Given the description of an element on the screen output the (x, y) to click on. 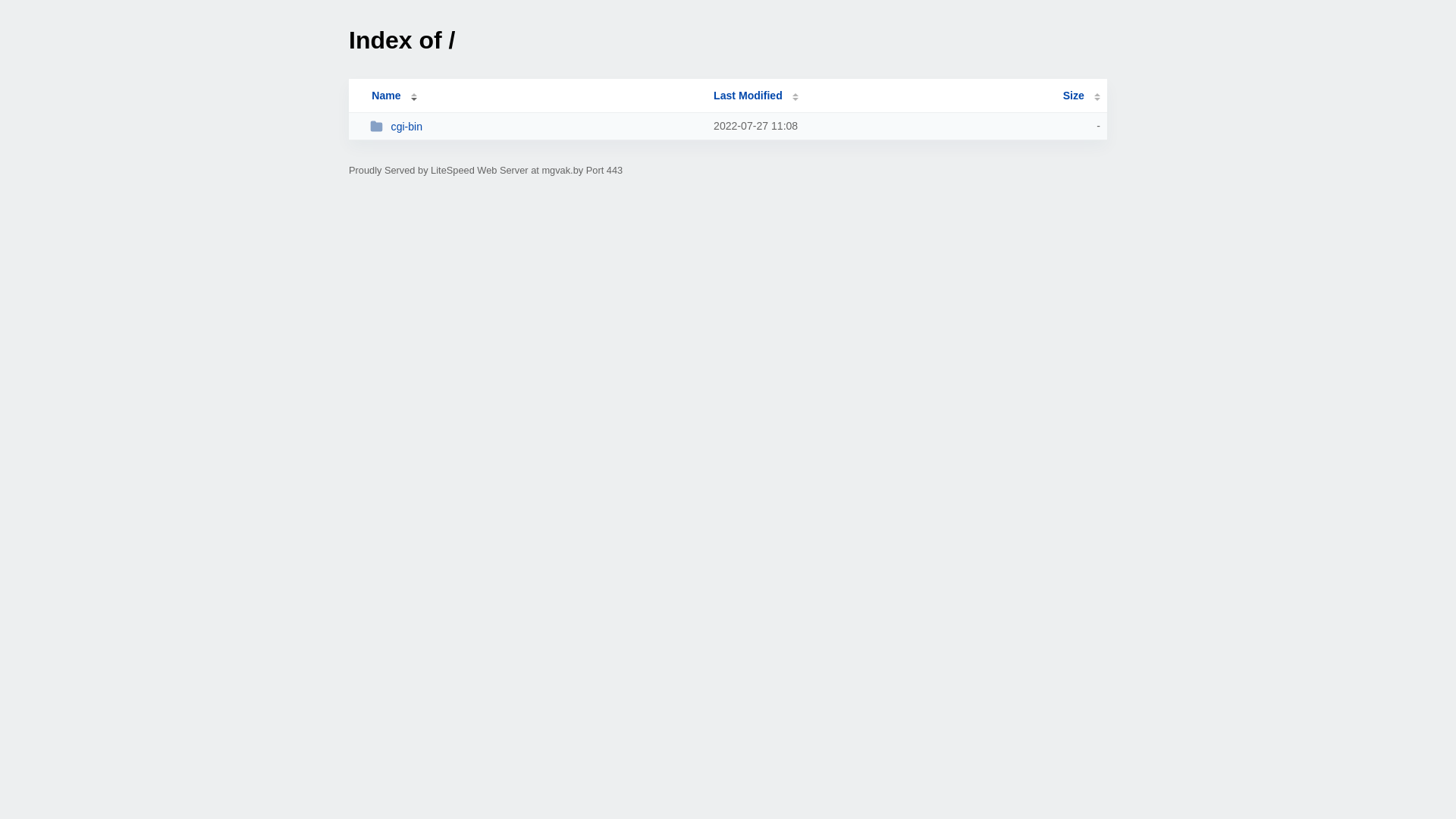
Last Modified Element type: text (755, 95)
Size Element type: text (1081, 95)
cgi-bin Element type: text (534, 125)
Name Element type: text (385, 95)
